Given the description of an element on the screen output the (x, y) to click on. 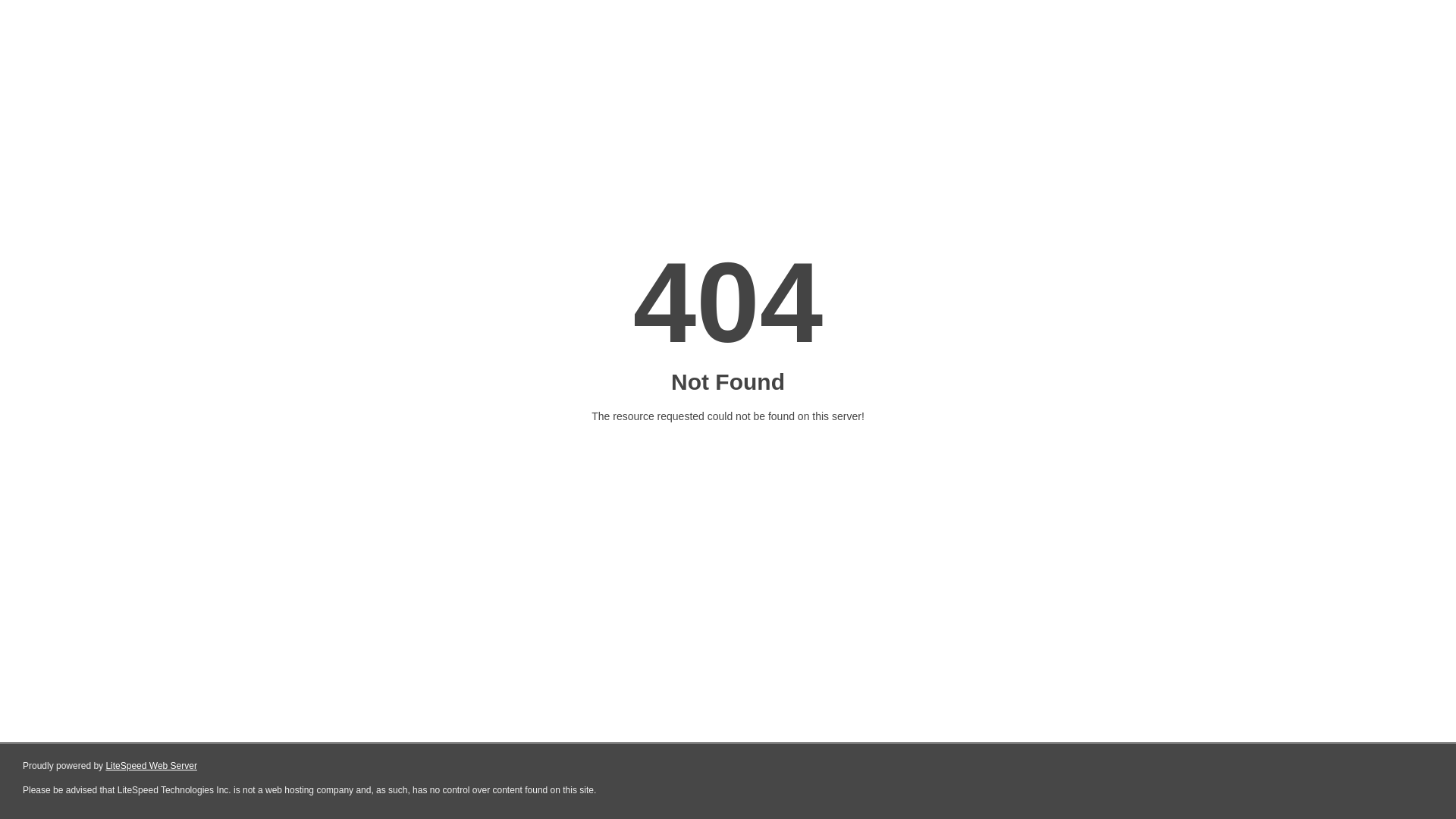
LiteSpeed Web Server Element type: text (151, 765)
